Given the description of an element on the screen output the (x, y) to click on. 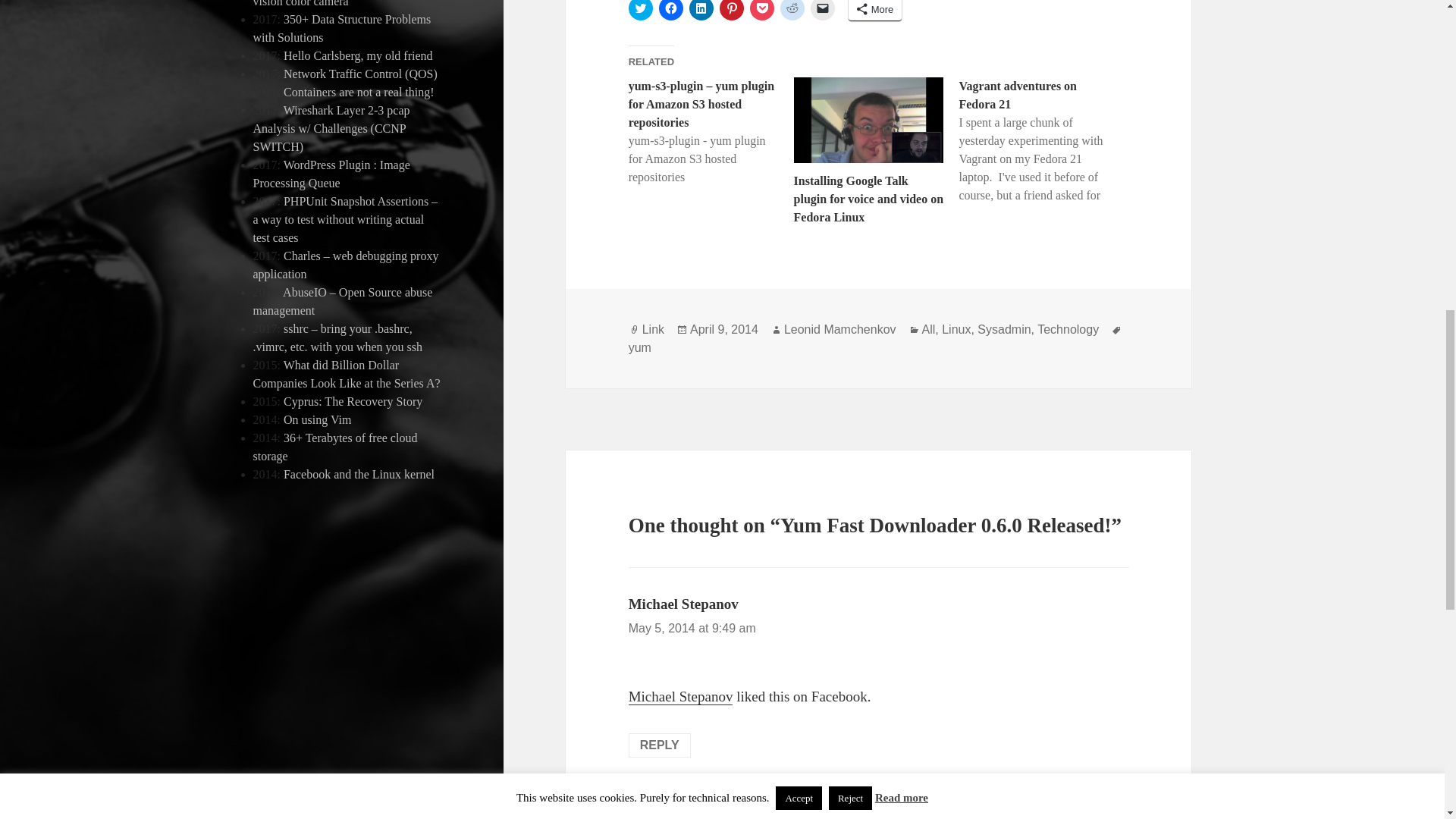
Click to email a link to a friend (822, 10)
Click to share on LinkedIn (700, 10)
WordPress Plugin : Image Processing Queue (331, 173)
What did Billion Dollar Companies Look Like at the Series A? (347, 373)
Click to share on Facebook (670, 10)
Cyprus: The Recovery Story (352, 400)
Hello Carlsberg, my old friend (357, 55)
Click to share on Pocket (761, 10)
Click to share on Reddit (792, 10)
Facebook and the Linux kernel (358, 473)
Click to share on Twitter (640, 10)
On using Vim (316, 419)
Click to share on Pinterest (731, 10)
Containers are not a real thing! (358, 91)
